Given the description of an element on the screen output the (x, y) to click on. 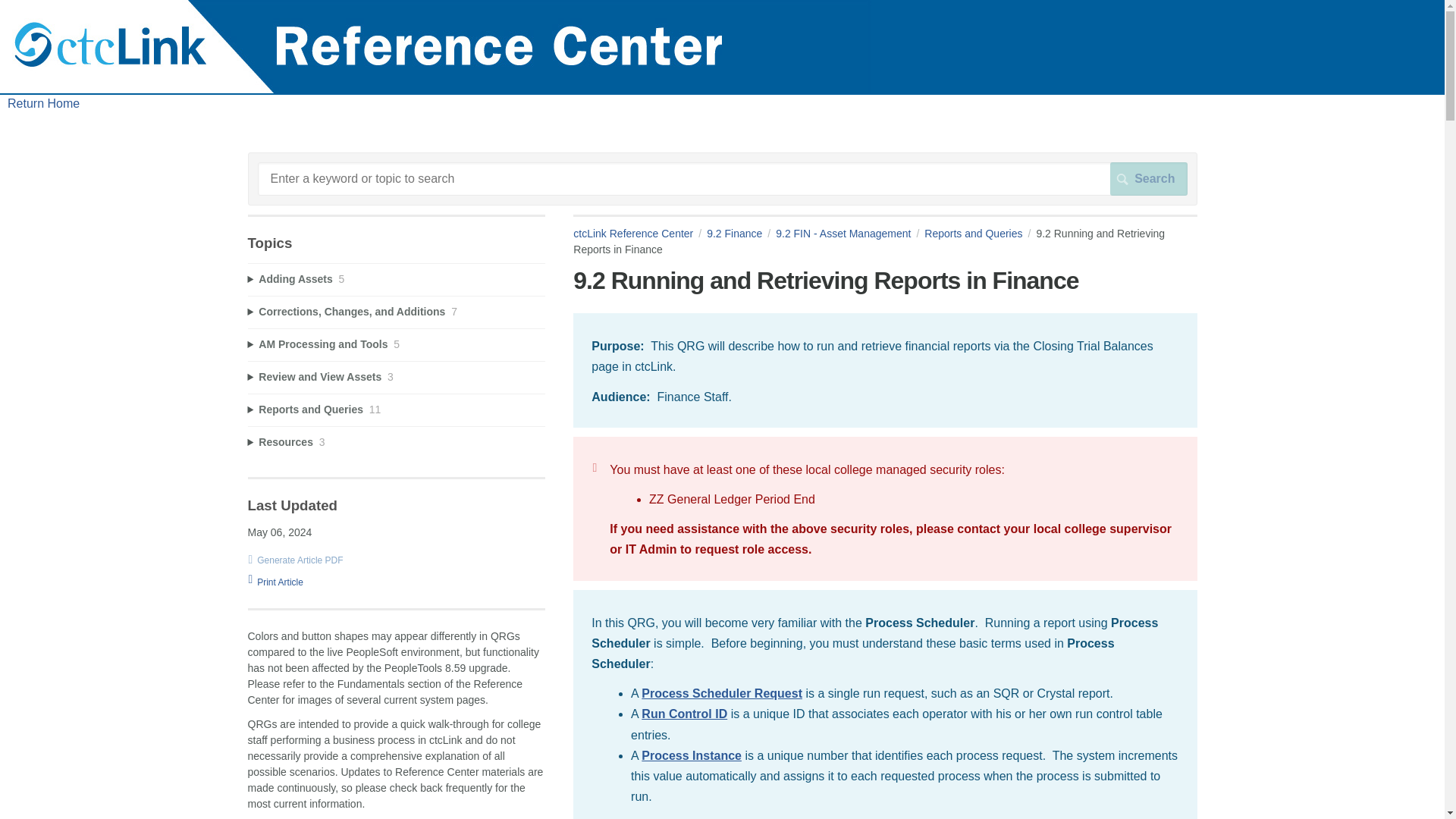
Process Instance (691, 755)
Search (1147, 178)
9.2 Finance (741, 233)
Search (1147, 178)
Process Scheduler Request (722, 693)
Return Home (43, 103)
Search (1147, 178)
ctcLink Reference Center (639, 233)
Run Control ID (684, 713)
9.2 FIN - Asset Management (850, 233)
